Given the description of an element on the screen output the (x, y) to click on. 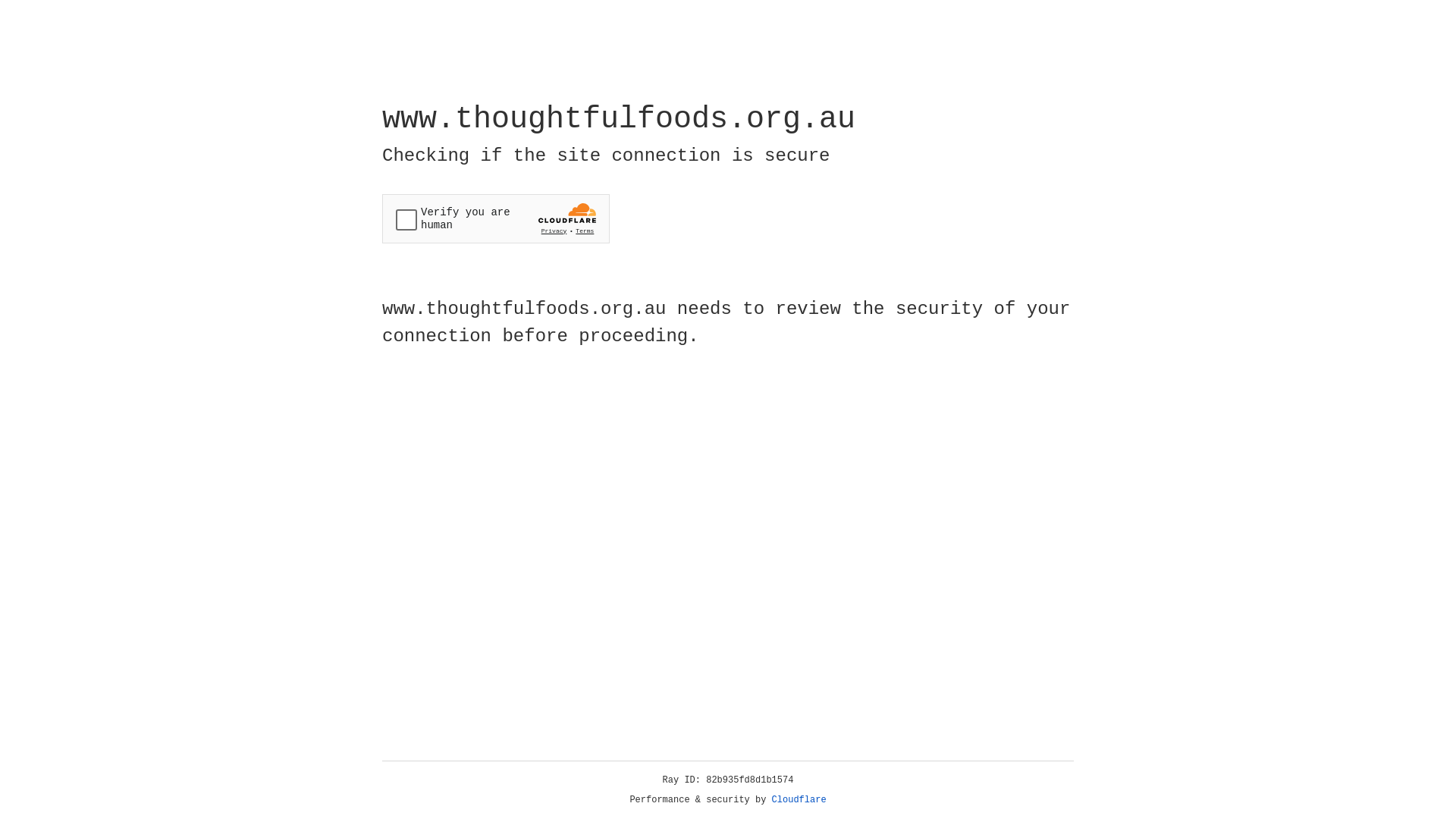
Cloudflare Element type: text (798, 799)
Widget containing a Cloudflare security challenge Element type: hover (495, 218)
